Given the description of an element on the screen output the (x, y) to click on. 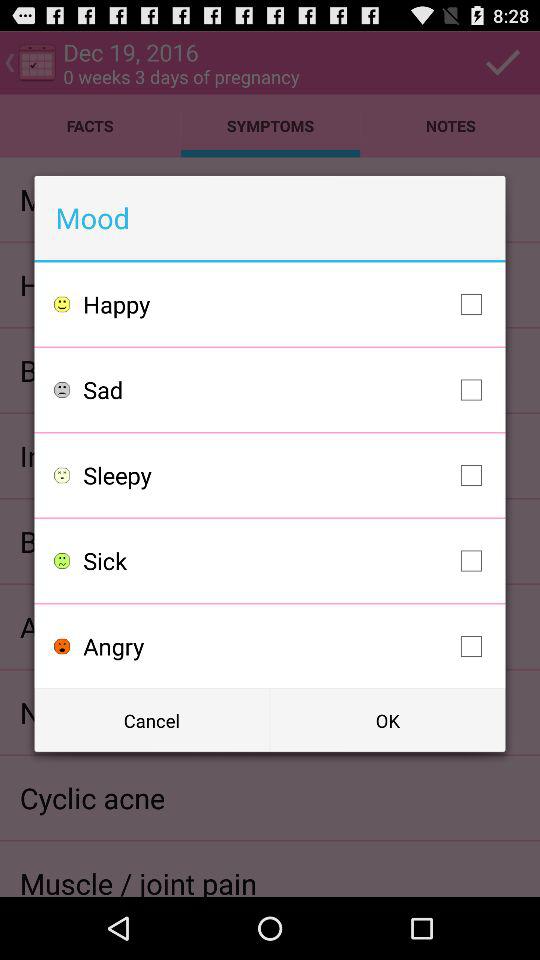
turn on the angry item (287, 646)
